Given the description of an element on the screen output the (x, y) to click on. 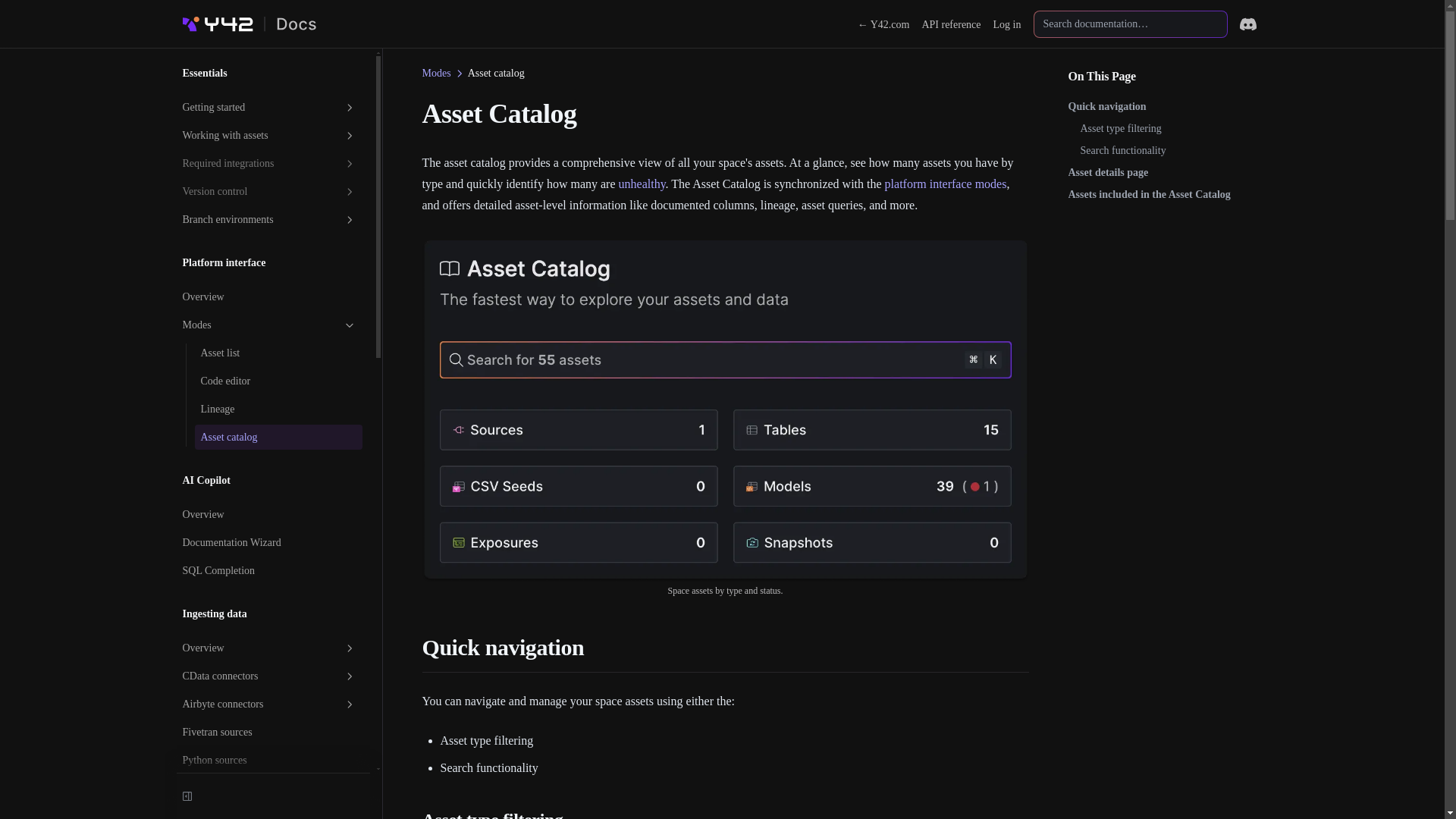
Quick navigation (1163, 106)
Version control (268, 191)
Hide sidebar (186, 795)
Assets included in the Asset Catalog (1163, 194)
Branch environments (268, 219)
Working with assets (268, 135)
Modes (435, 73)
Getting started (268, 107)
Required integrations (268, 163)
Asset type filtering (1163, 128)
